Given the description of an element on the screen output the (x, y) to click on. 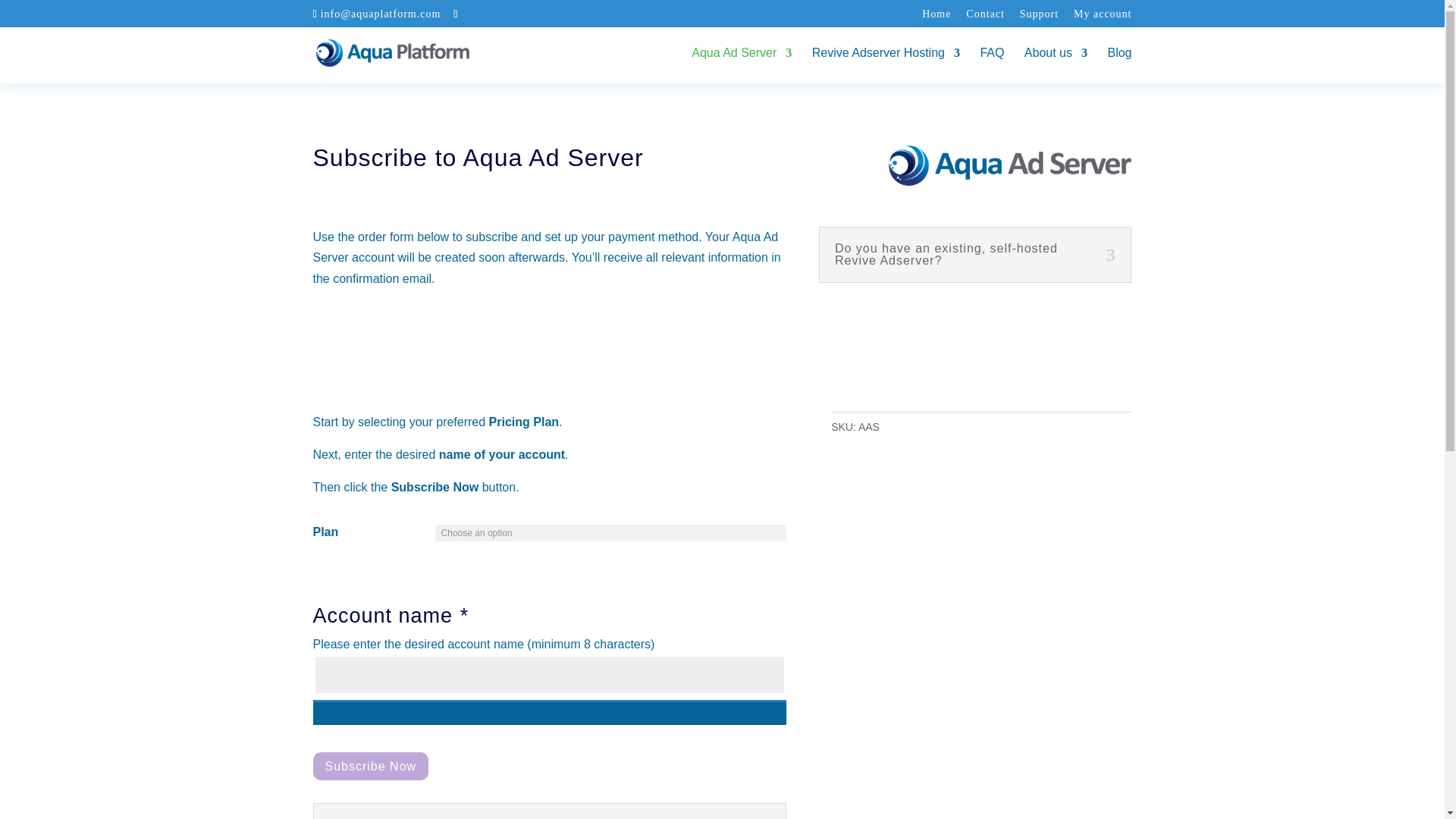
Home (935, 18)
Revive Adserver Hosting (885, 65)
About us (1056, 65)
Support (1039, 18)
Contact (985, 18)
Aqua Ad Server (741, 65)
Subscribe Now (370, 766)
Easy to use Ad Serving System (741, 65)
My account (1102, 18)
